Given the description of an element on the screen output the (x, y) to click on. 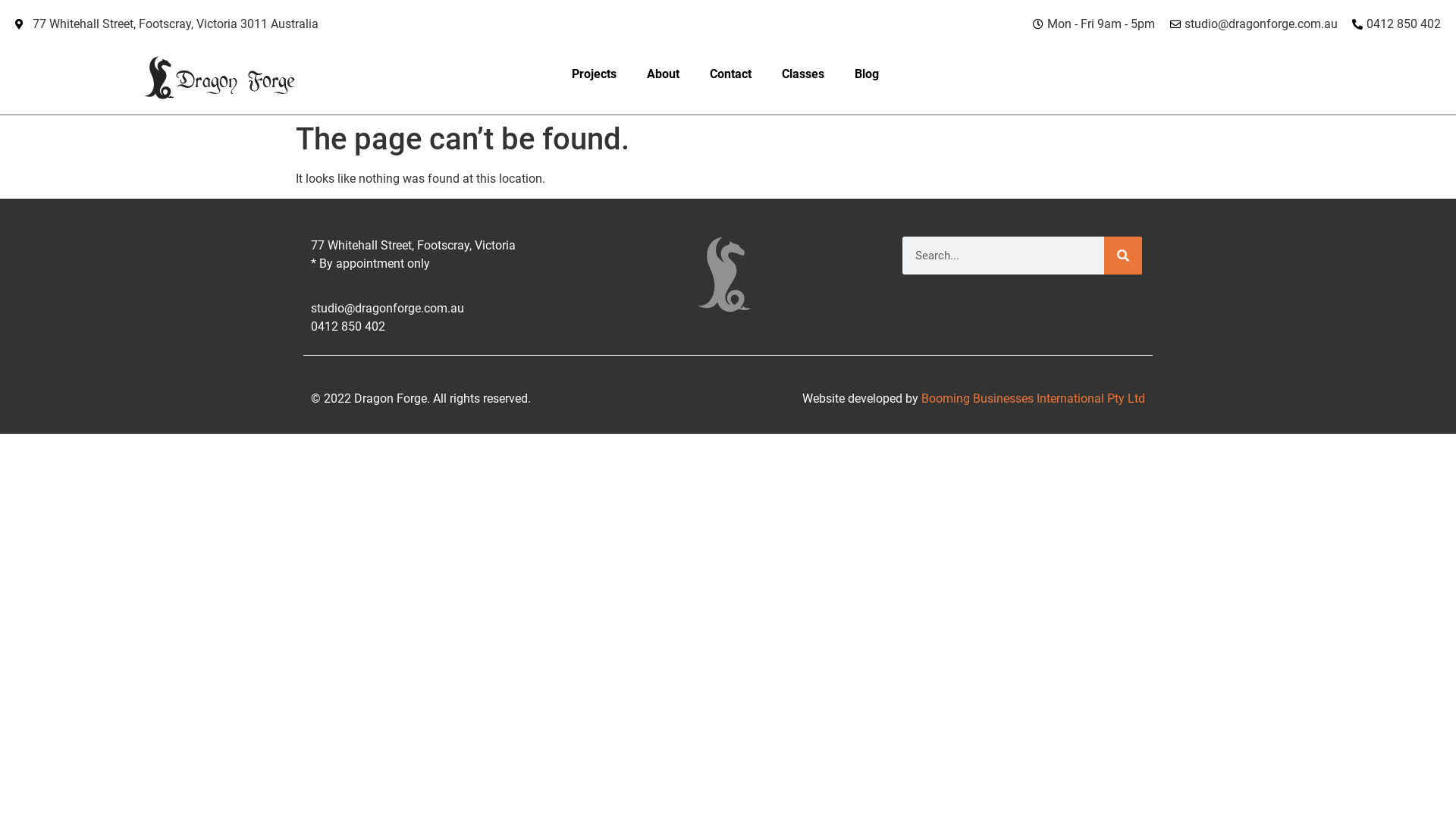
0412 850 402 Element type: text (430, 326)
Classes Element type: text (802, 73)
studio@dragonforge.com.au Element type: text (430, 308)
Blog Element type: text (866, 73)
studio@dragonforge.com.au Element type: text (1252, 24)
0412 850 402 Element type: text (1395, 24)
Booming Businesses International Pty Ltd Element type: text (1033, 398)
About Element type: text (662, 73)
Projects Element type: text (593, 73)
Contact Element type: text (730, 73)
